Given the description of an element on the screen output the (x, y) to click on. 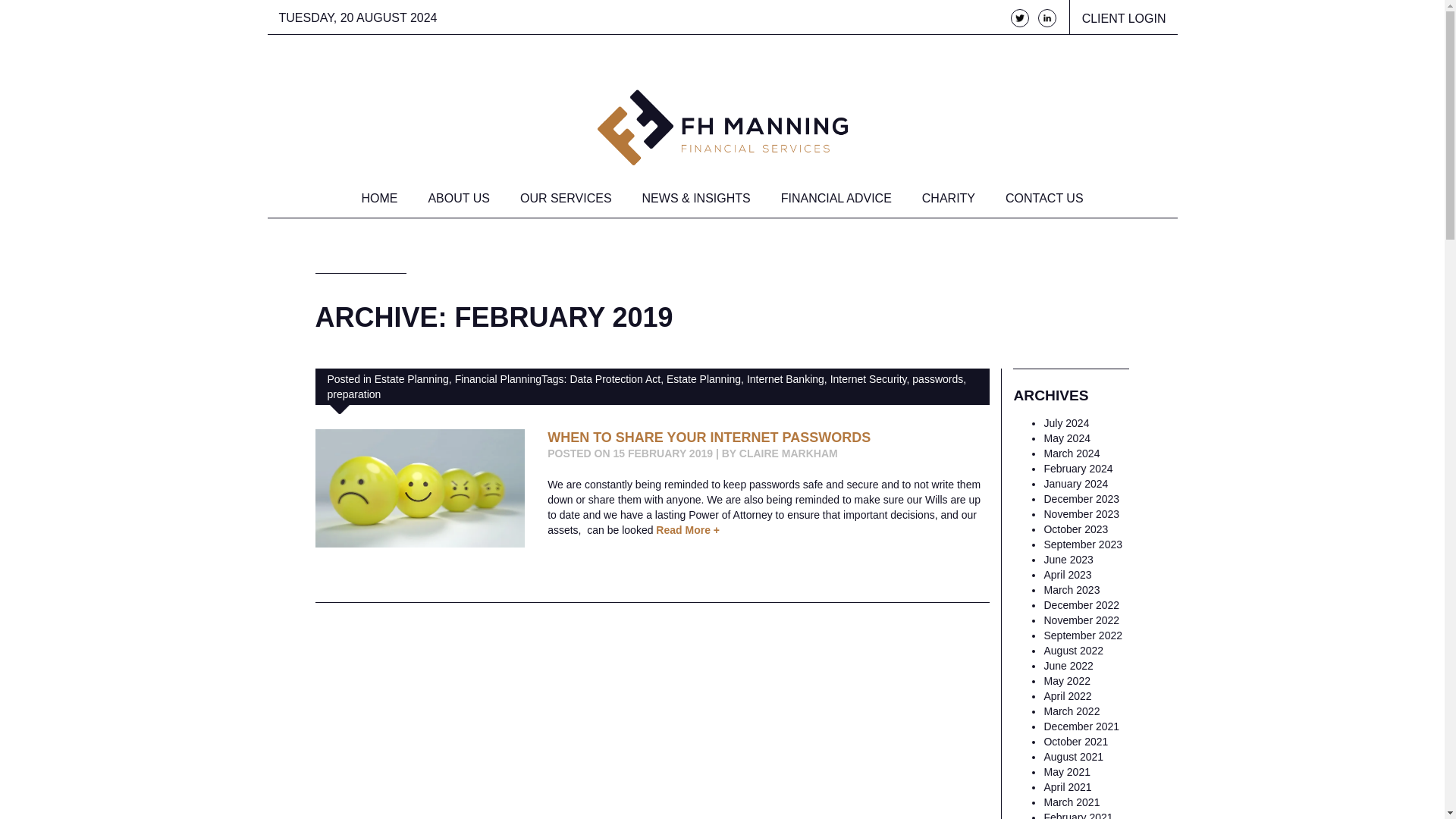
CHARITY (948, 200)
December 2022 (1081, 604)
Estate Planning (411, 378)
Internet Security (868, 378)
WHEN TO SHARE YOUR INTERNET PASSWORDS (708, 437)
June 2023 (1068, 559)
November 2022 (1081, 620)
HOME (379, 200)
CLIENT LOGIN (1117, 17)
January 2024 (1075, 483)
